Given the description of an element on the screen output the (x, y) to click on. 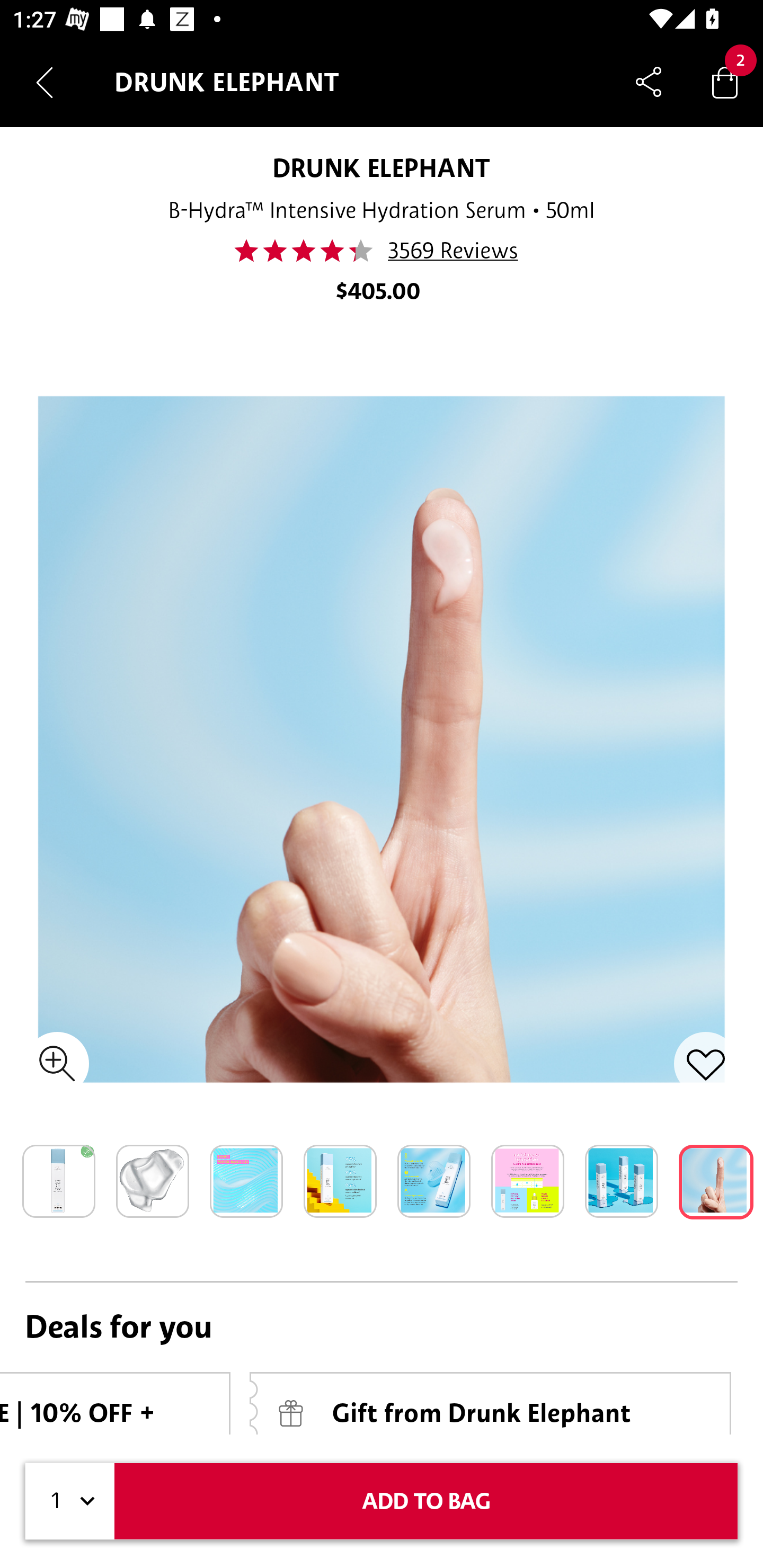
Navigate up (44, 82)
Share (648, 81)
Bag (724, 81)
DRUNK ELEPHANT (381, 167)
43.0 3569 Reviews (381, 250)
1 (69, 1500)
ADD TO BAG (425, 1500)
